Given the description of an element on the screen output the (x, y) to click on. 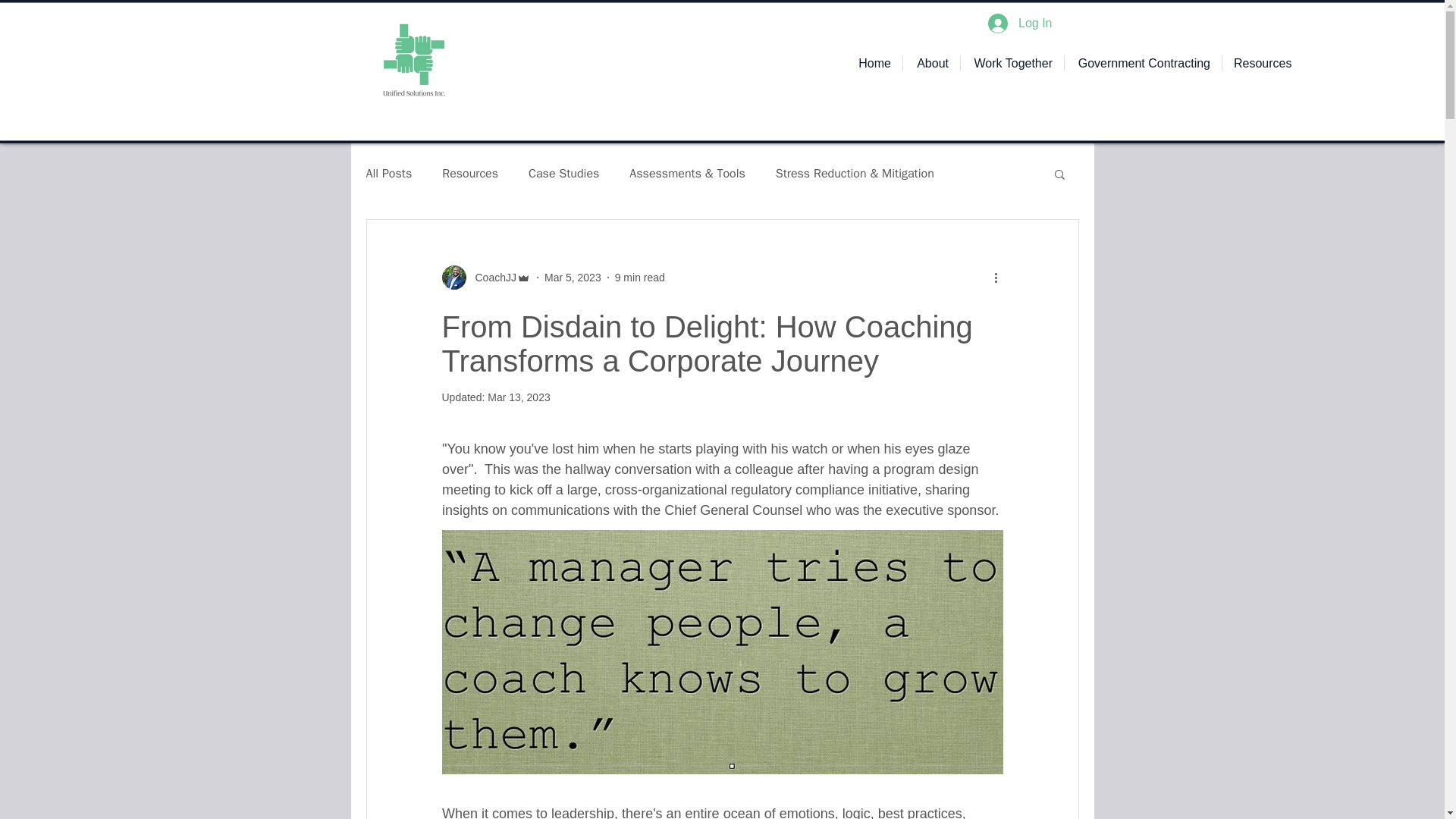
Case Studies (563, 172)
Home (873, 63)
Government Contracting (1142, 63)
CoachJJ (490, 277)
Resources (1261, 63)
Mar 5, 2023 (572, 277)
All Posts (388, 172)
Resources (469, 172)
CoachJJ (485, 277)
Work Together (1012, 63)
